Given the description of an element on the screen output the (x, y) to click on. 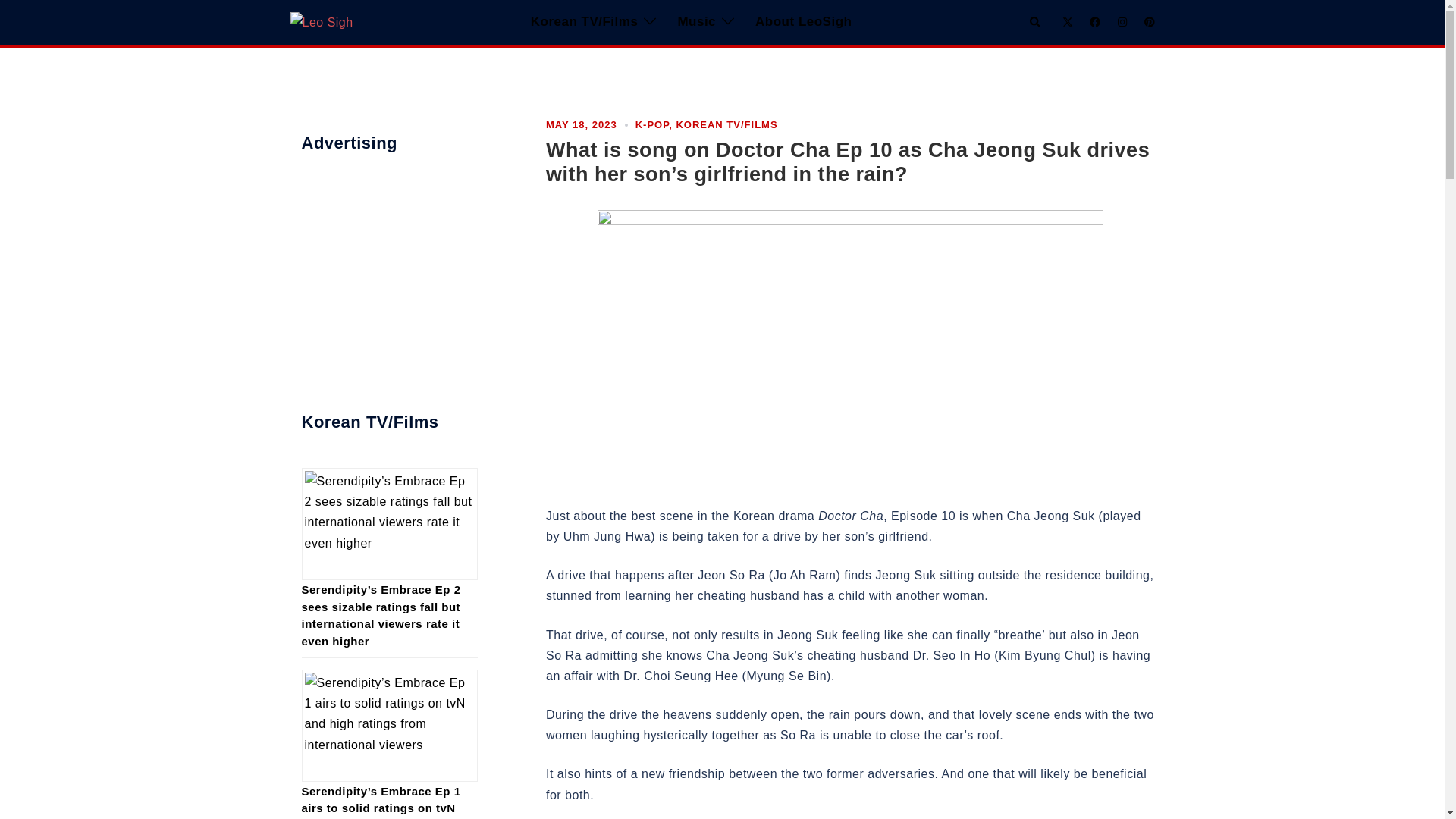
MAY 18, 2023 (581, 124)
About LeoSigh (803, 22)
Leo Sigh (320, 21)
K-POP (651, 124)
Music (696, 22)
Search (1035, 21)
